Given the description of an element on the screen output the (x, y) to click on. 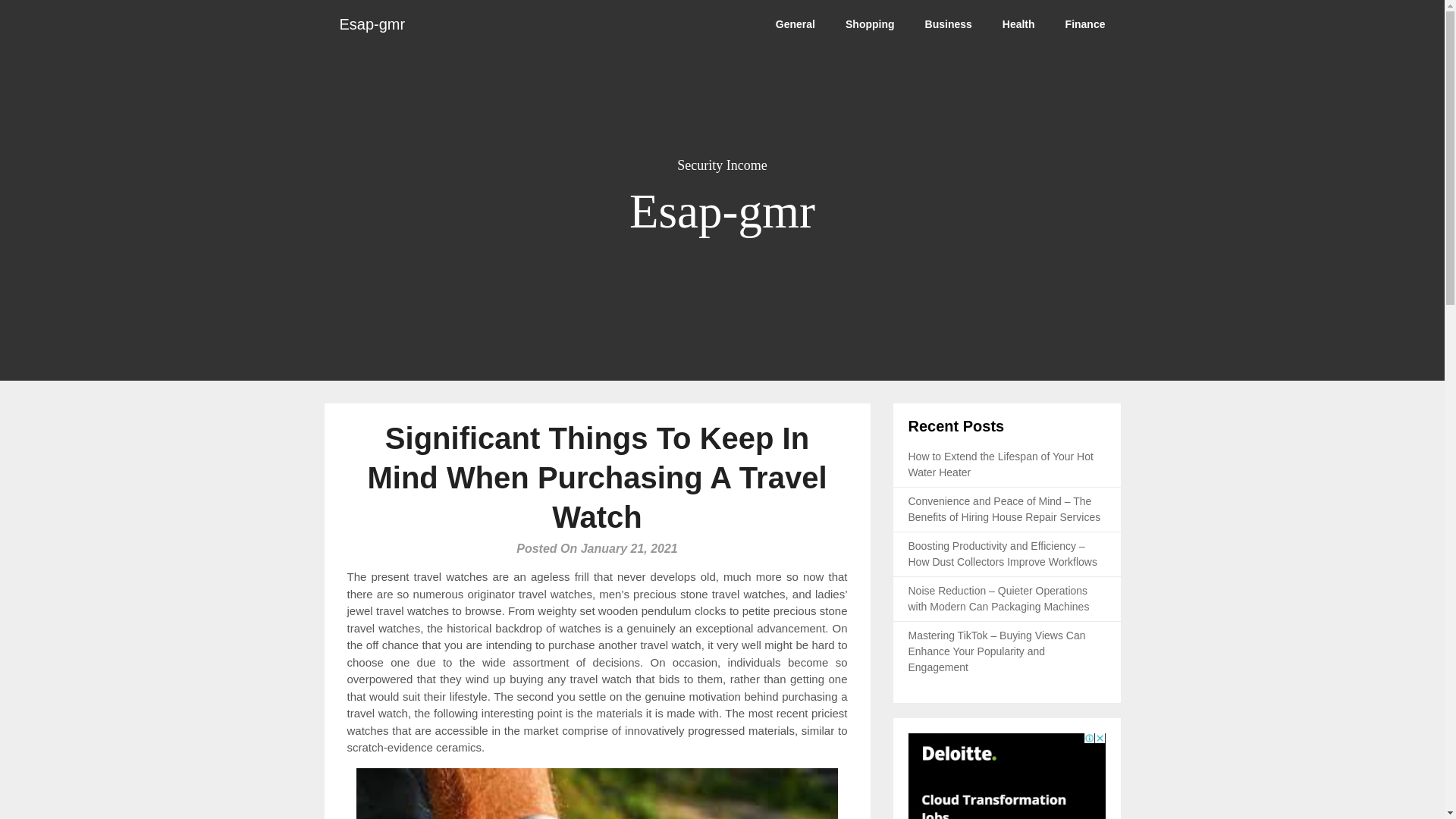
How to Extend the Lifespan of Your Hot Water Heater (1000, 464)
General (794, 24)
Business (948, 24)
Shopping (869, 24)
Finance (1085, 24)
Health (1018, 24)
Esap-gmr (372, 24)
